Given the description of an element on the screen output the (x, y) to click on. 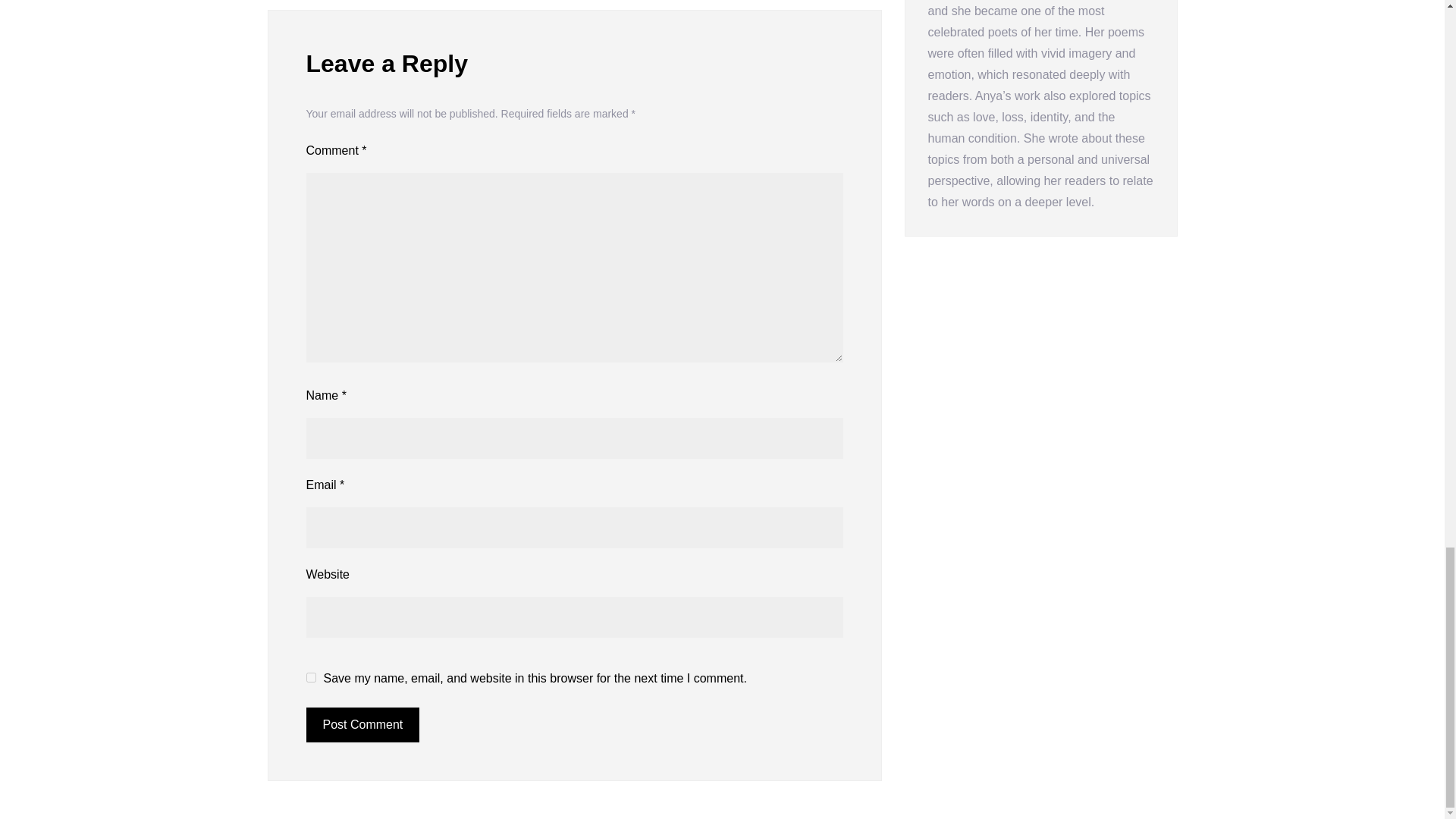
Post Comment (362, 724)
Post Comment (362, 724)
yes (310, 677)
